Given the description of an element on the screen output the (x, y) to click on. 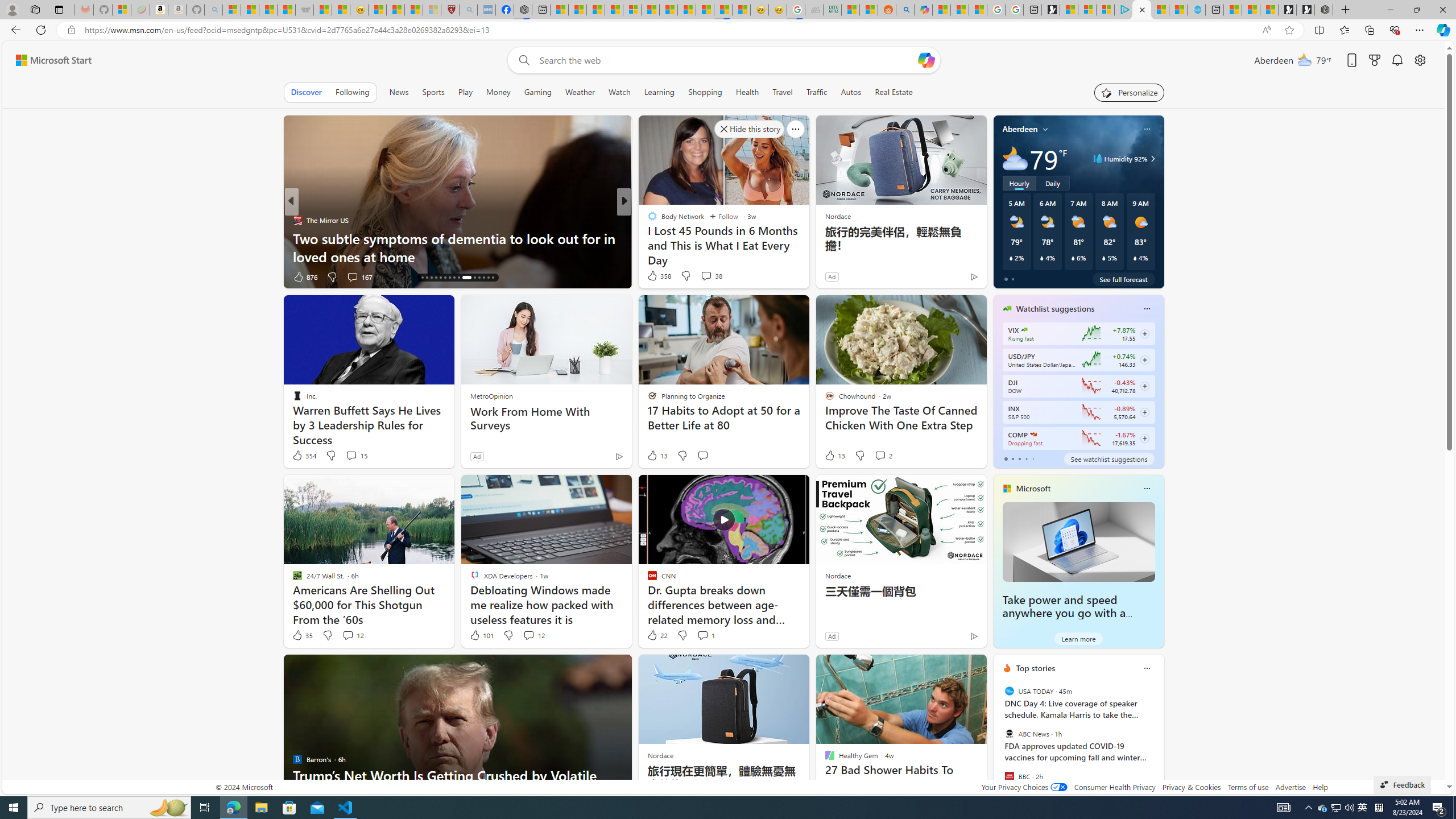
354 Like (303, 455)
Restore (1416, 9)
View comments 104 Comment (703, 276)
Work From Home With Surveys (546, 418)
Class: weather-arrow-glyph (1152, 158)
AutomationID: tab-16 (422, 277)
View comments 12 Comment (533, 634)
Sports (432, 92)
Ad Choice (972, 635)
View comments 34 Comment (352, 276)
Combat Siege (304, 9)
tab-3 (1025, 458)
Watchlist suggestions (1055, 308)
